Given the description of an element on the screen output the (x, y) to click on. 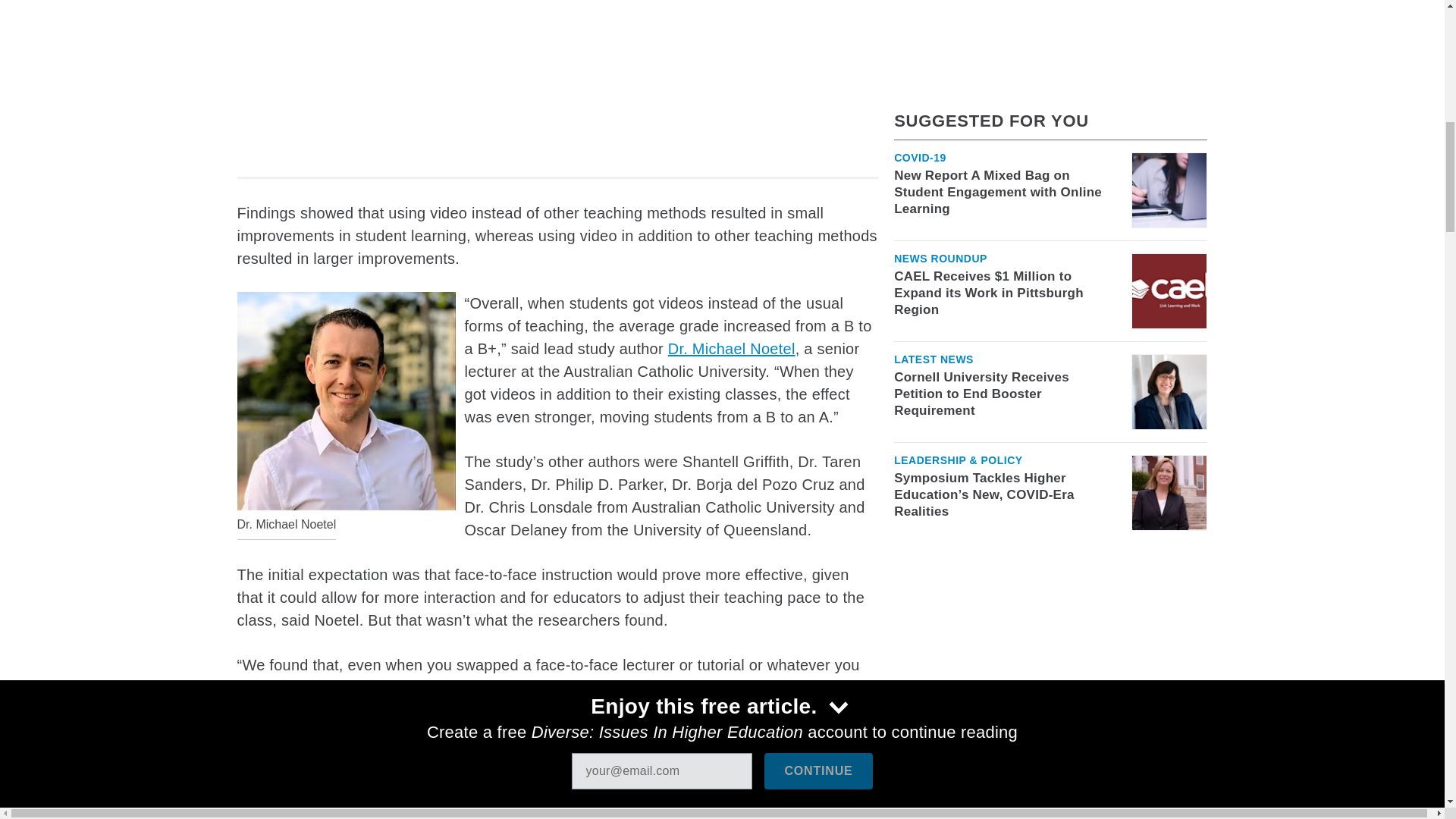
3rd party ad content (557, 76)
